Given the description of an element on the screen output the (x, y) to click on. 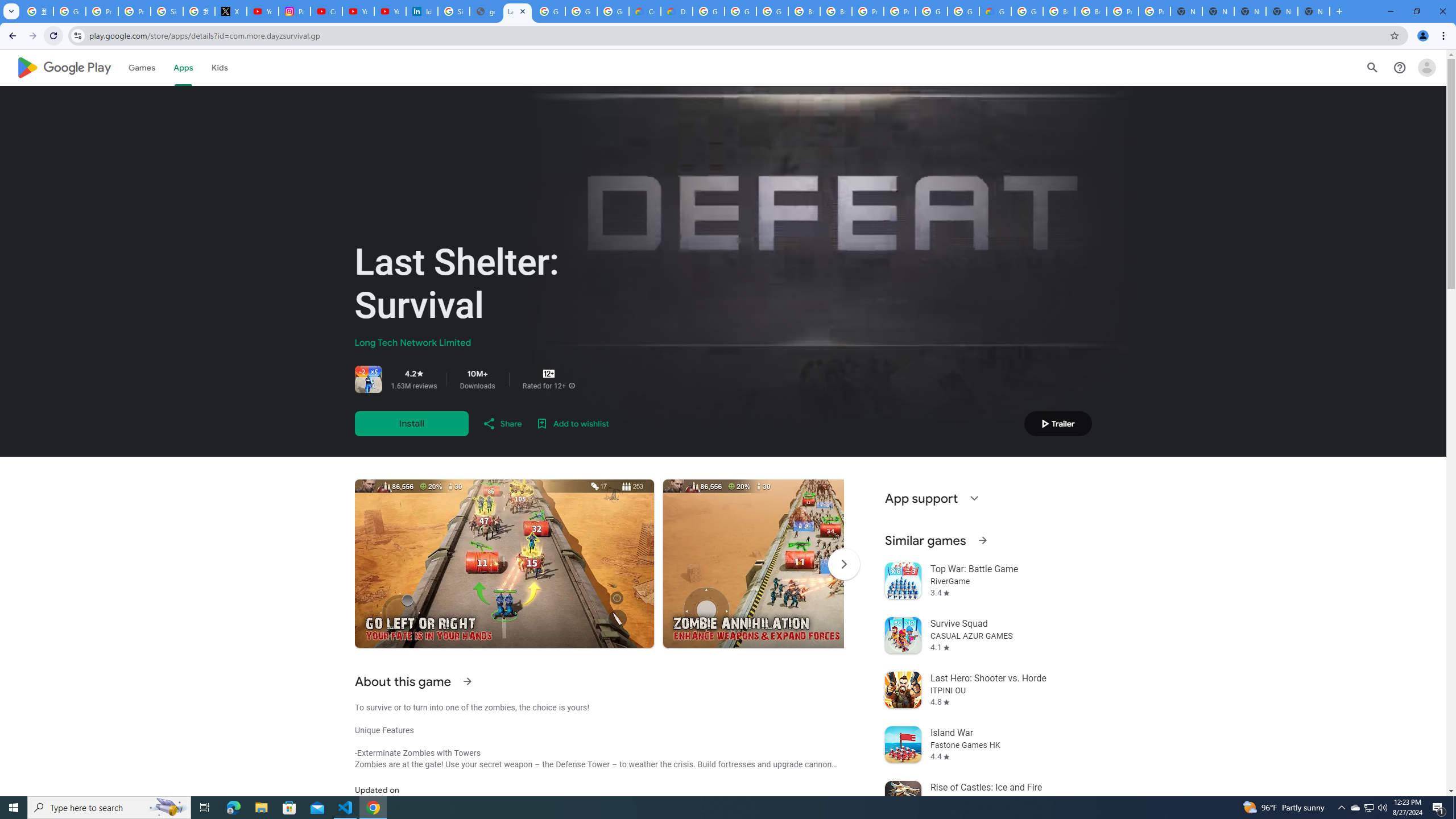
Open account menu (1426, 67)
Play trailer (1058, 423)
Privacy Help Center - Policies Help (134, 11)
Customer Care | Google Cloud (644, 11)
Games (141, 67)
YouTube Content Monetization Policies - How YouTube Works (262, 11)
